Given the description of an element on the screen output the (x, y) to click on. 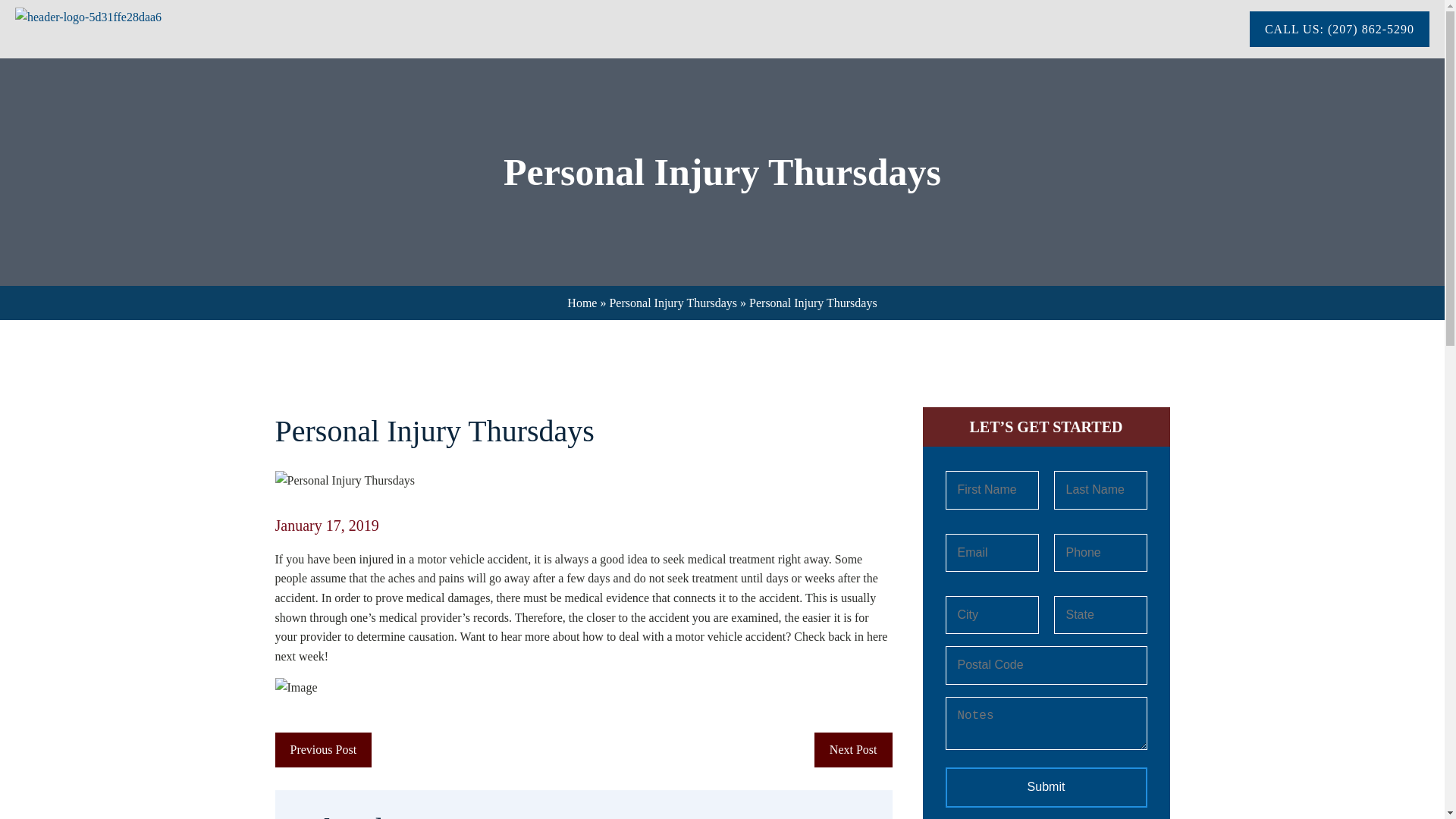
Previous Post (323, 749)
Home (581, 302)
Submit (1045, 786)
Submit (1045, 786)
Next Post (852, 749)
Personal Injury Thursdays (672, 302)
